Given the description of an element on the screen output the (x, y) to click on. 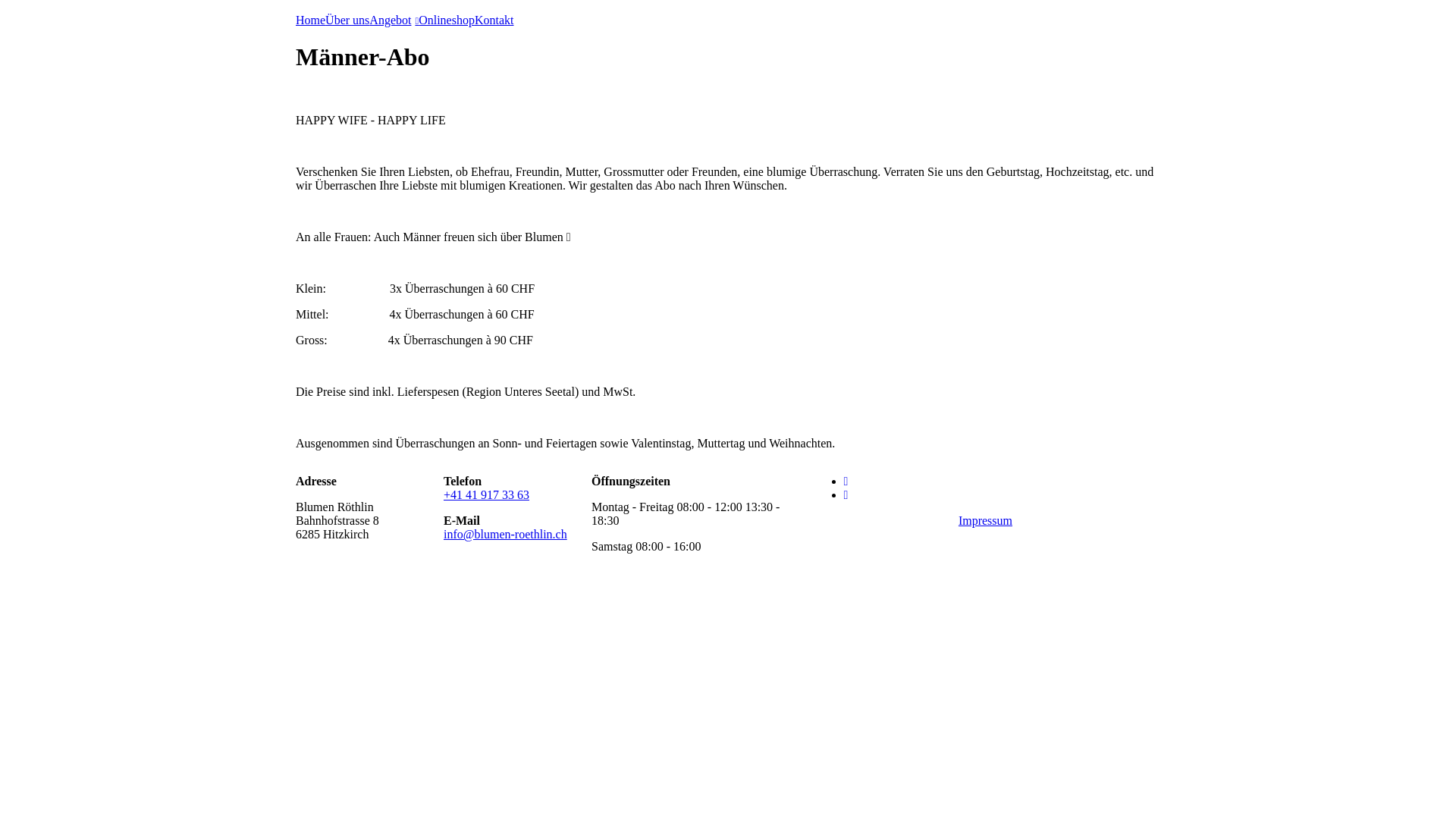
Onlineshop Element type: text (446, 20)
Impressum Element type: text (985, 520)
info@blumen-roethlin.ch Element type: text (505, 533)
Angebot Element type: text (393, 20)
+41 41 917 33 63 Element type: text (486, 494)
Kontakt Element type: text (494, 20)
Home Element type: text (310, 20)
